Given the description of an element on the screen output the (x, y) to click on. 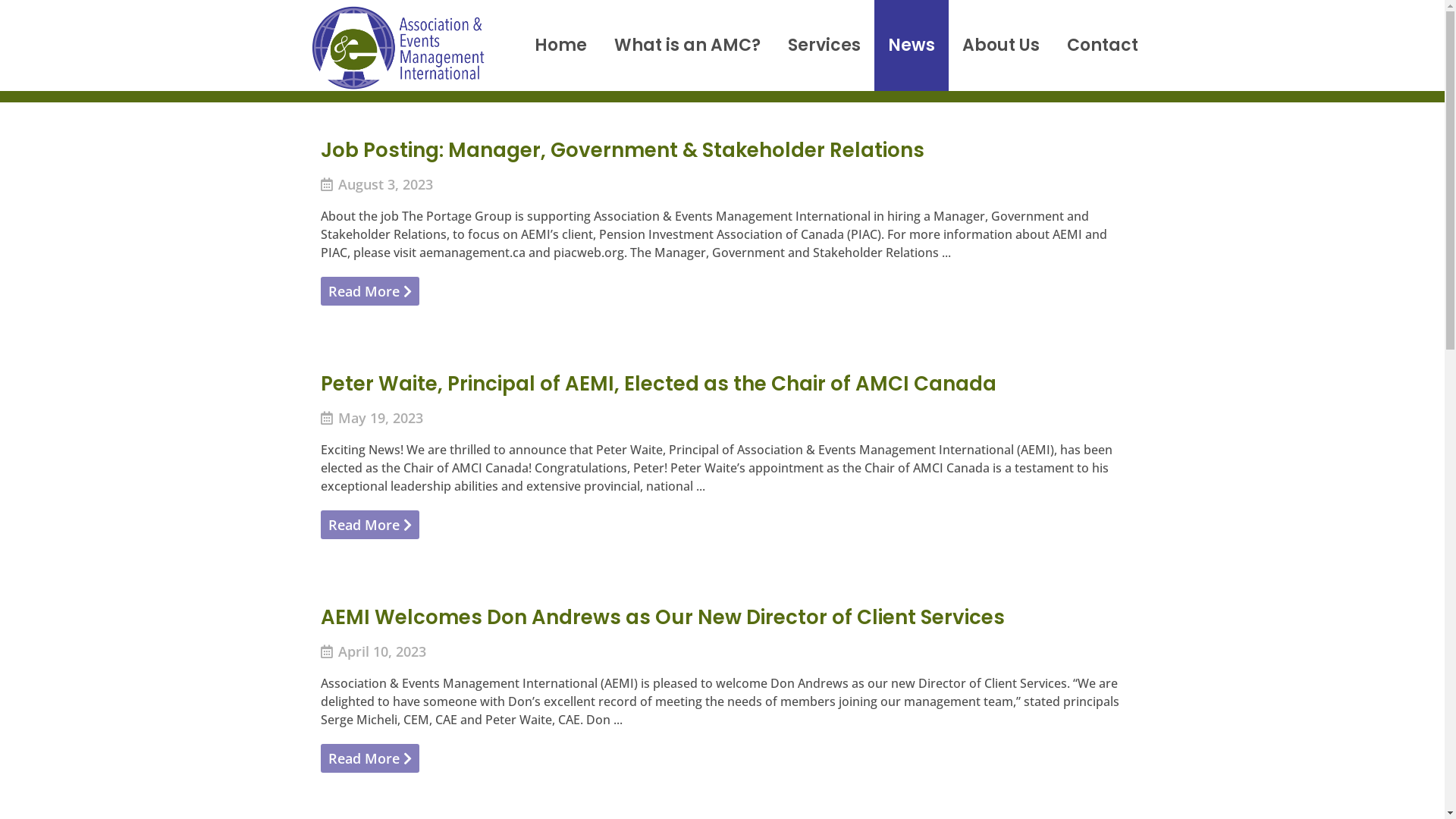
What is an AMC? Element type: text (687, 45)
Contact Element type: text (1102, 45)
Services Element type: text (824, 45)
News Element type: text (911, 45)
About Us Element type: text (1000, 45)
Read More Element type: text (369, 290)
Home Element type: text (560, 45)
Read More Element type: text (369, 757)
Read More Element type: text (369, 524)
